Given the description of an element on the screen output the (x, y) to click on. 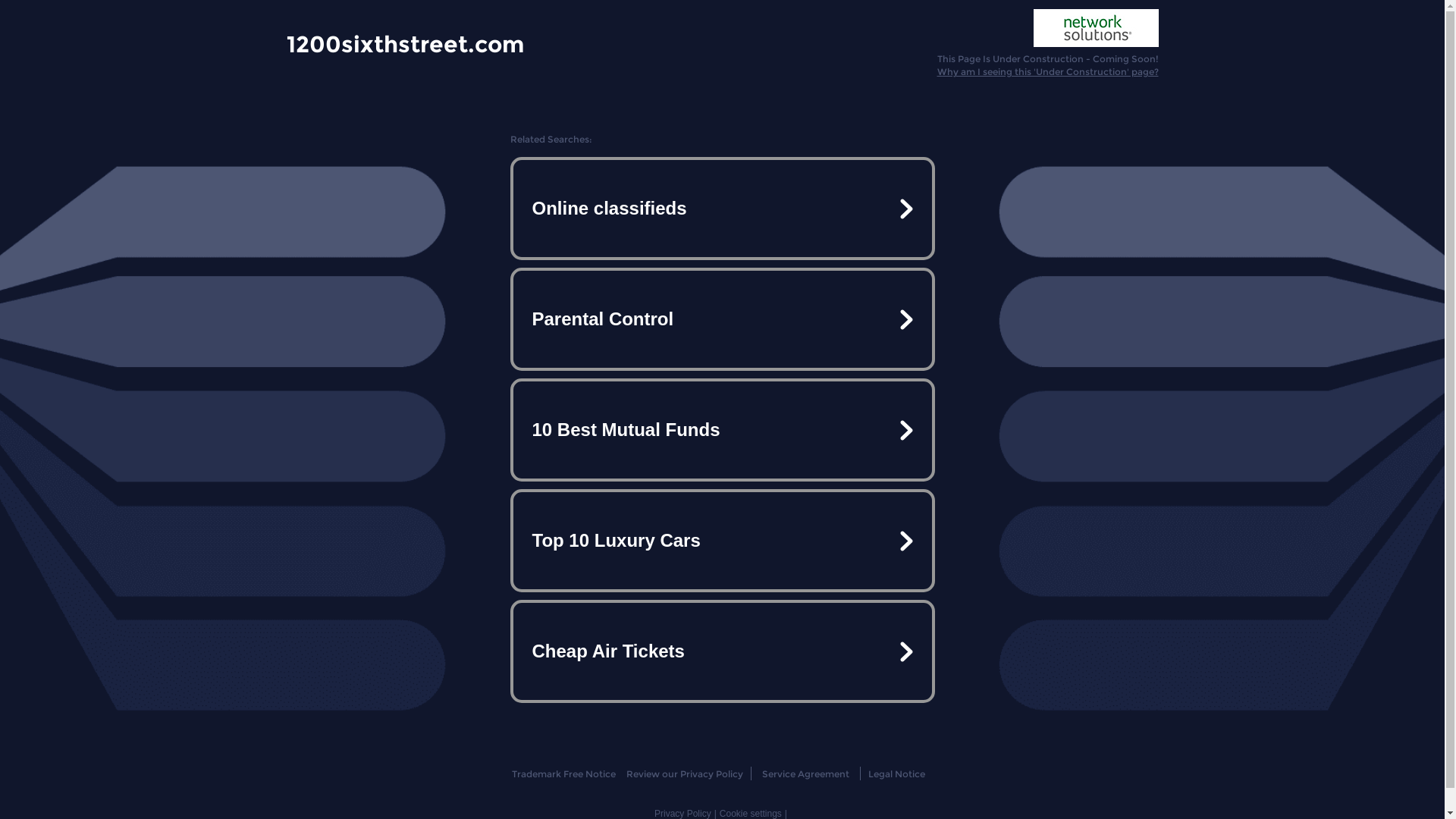
Online classifieds Element type: text (721, 208)
Cheap Air Tickets Element type: text (721, 650)
Legal Notice Element type: text (896, 773)
Top 10 Luxury Cars Element type: text (721, 540)
Parental Control Element type: text (721, 318)
Trademark Free Notice Element type: text (563, 773)
Service Agreement Element type: text (805, 773)
Why am I seeing this 'Under Construction' page? Element type: text (1047, 71)
1200sixthstreet.com Element type: text (405, 43)
Review our Privacy Policy Element type: text (684, 773)
10 Best Mutual Funds Element type: text (721, 429)
